Given the description of an element on the screen output the (x, y) to click on. 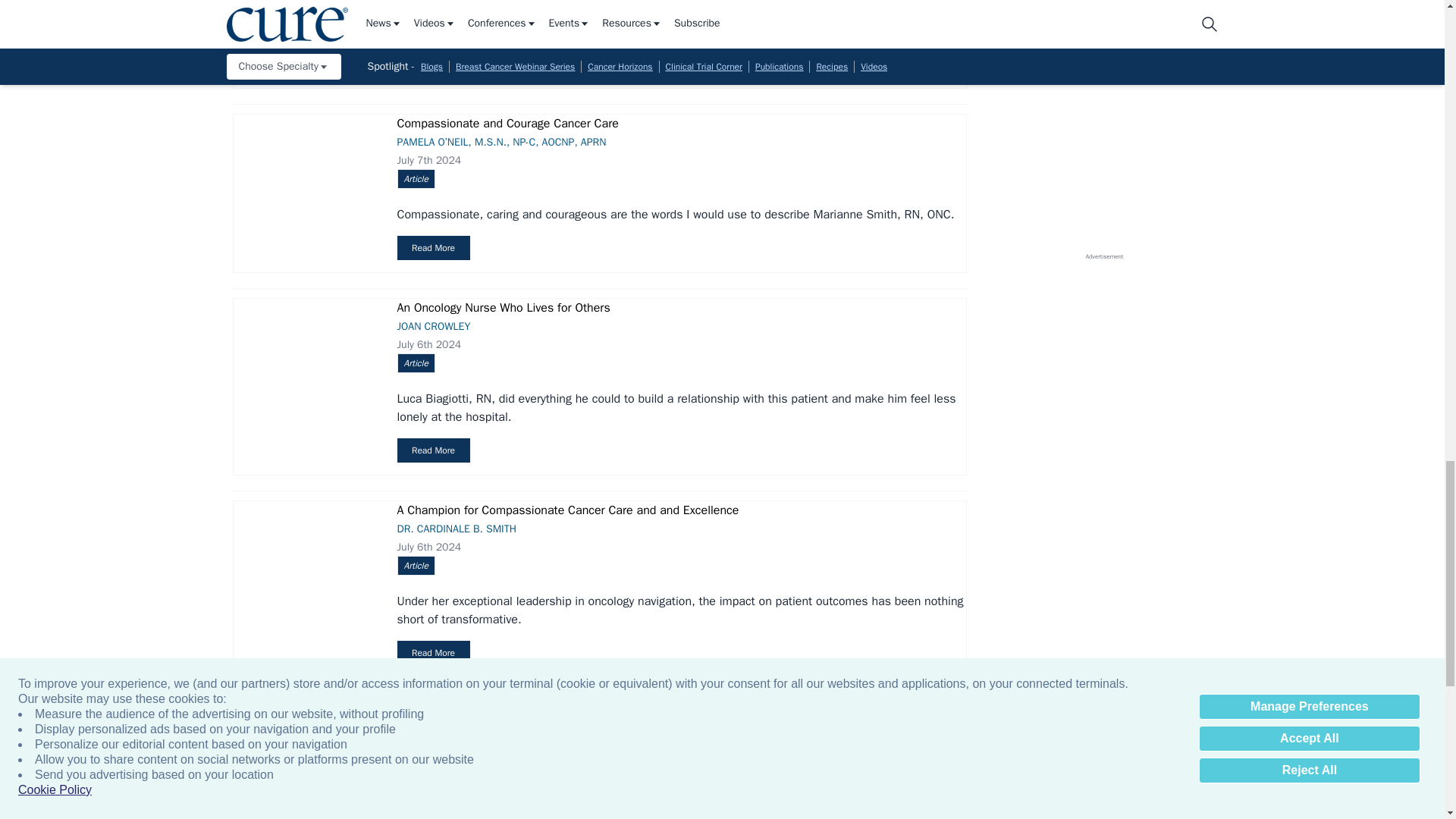
hand with a stethoscope (305, 359)
